Given the description of an element on the screen output the (x, y) to click on. 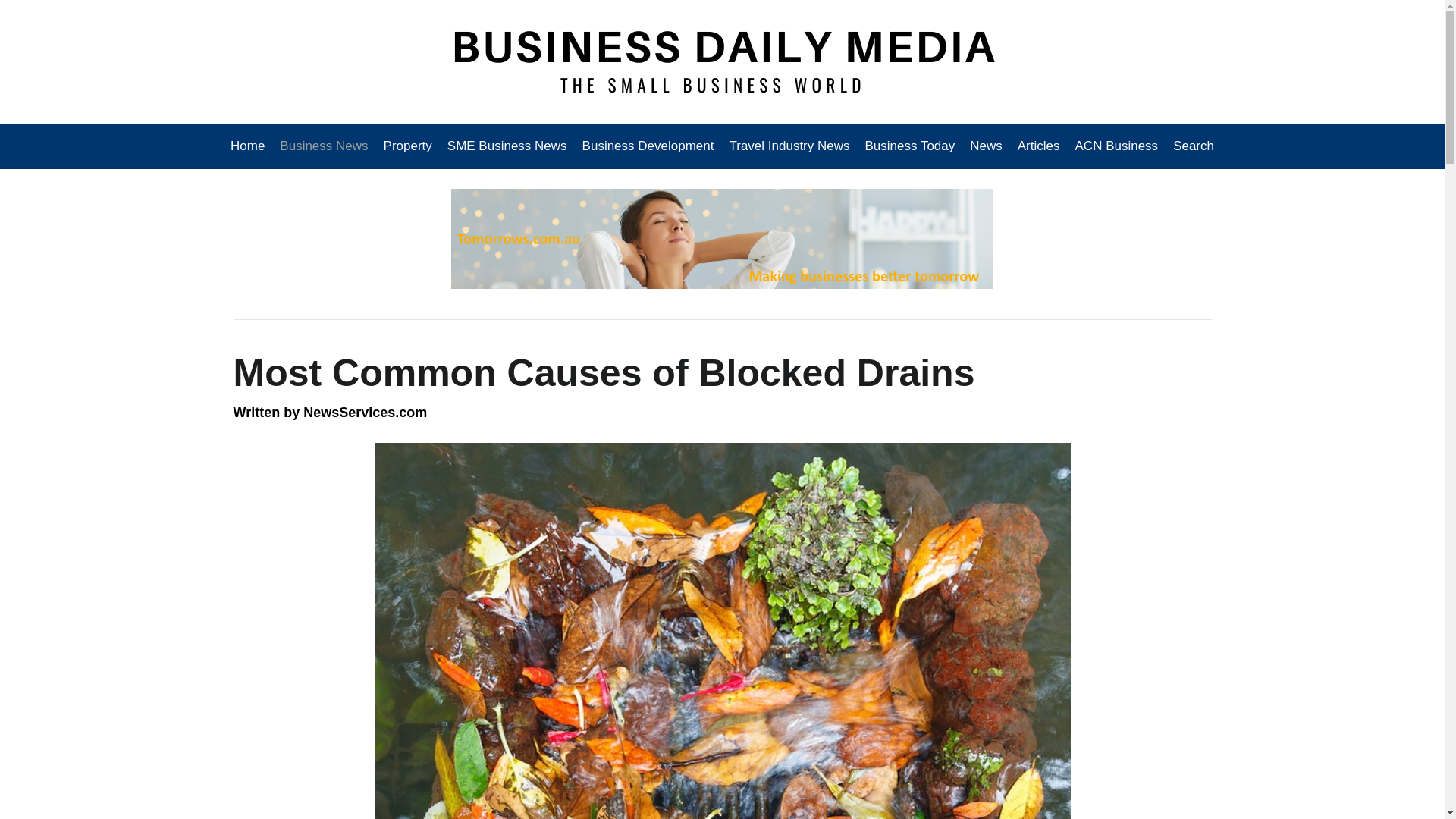
ACN Business (1116, 145)
Travel Industry News (788, 145)
Business Development (648, 145)
Home (251, 145)
Property (407, 145)
SME Business News (507, 145)
Articles (1038, 145)
Business Today (909, 145)
Business News (323, 145)
Search (1190, 145)
News (986, 145)
